Given the description of an element on the screen output the (x, y) to click on. 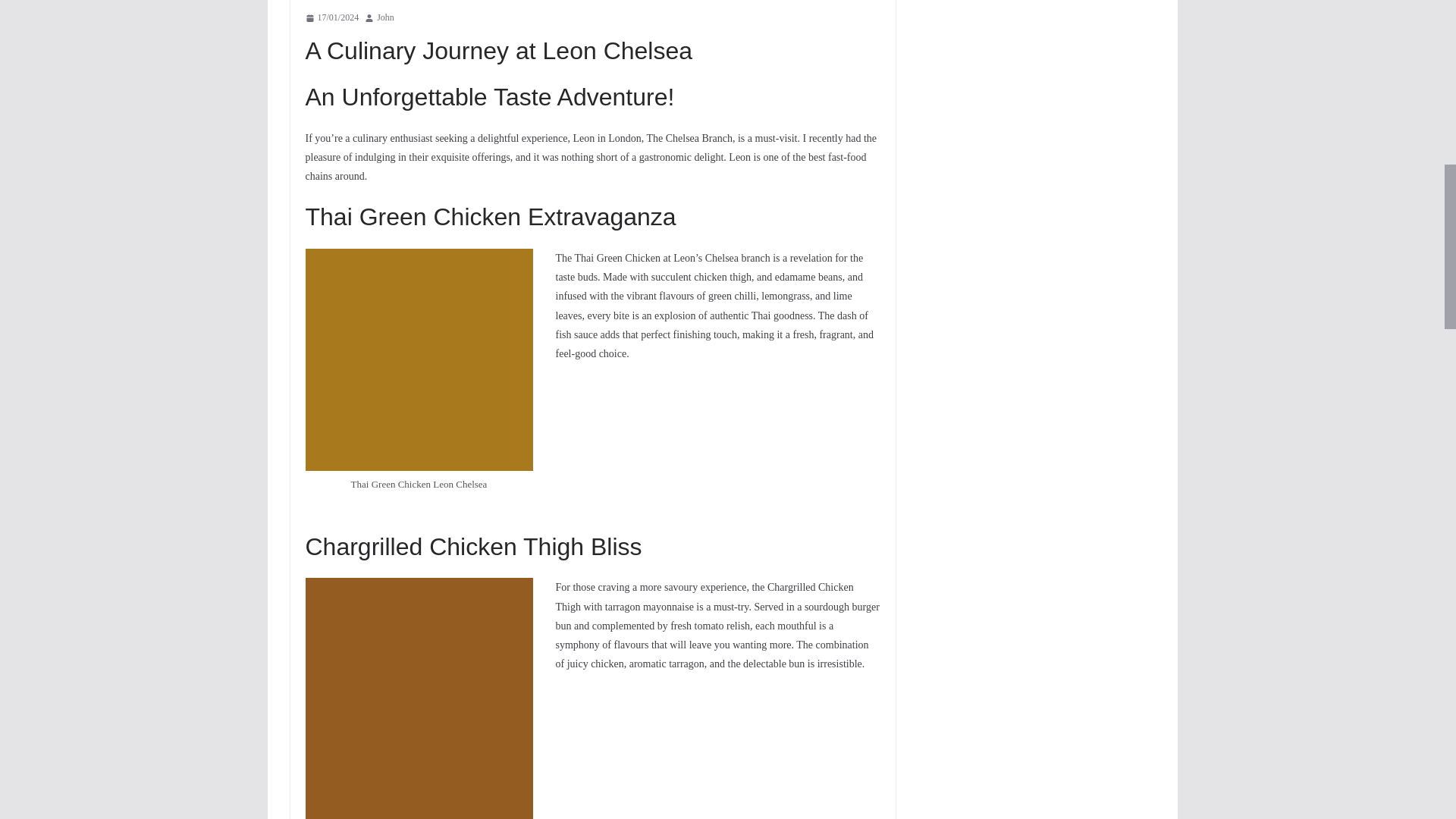
John (385, 17)
John (385, 17)
18:58 (331, 17)
